Given the description of an element on the screen output the (x, y) to click on. 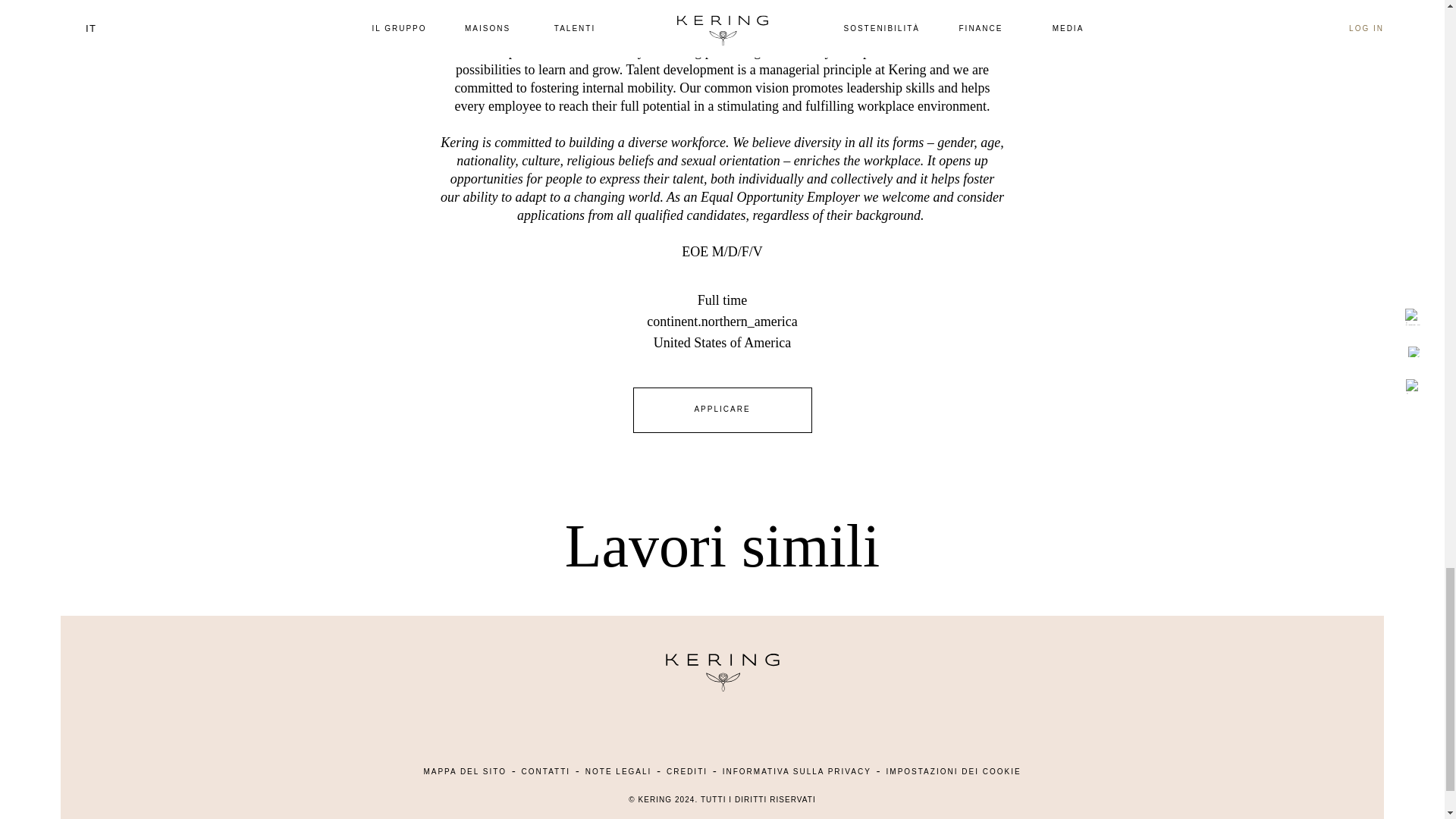
Kering (720, 687)
APPLICARE (720, 410)
